Given the description of an element on the screen output the (x, y) to click on. 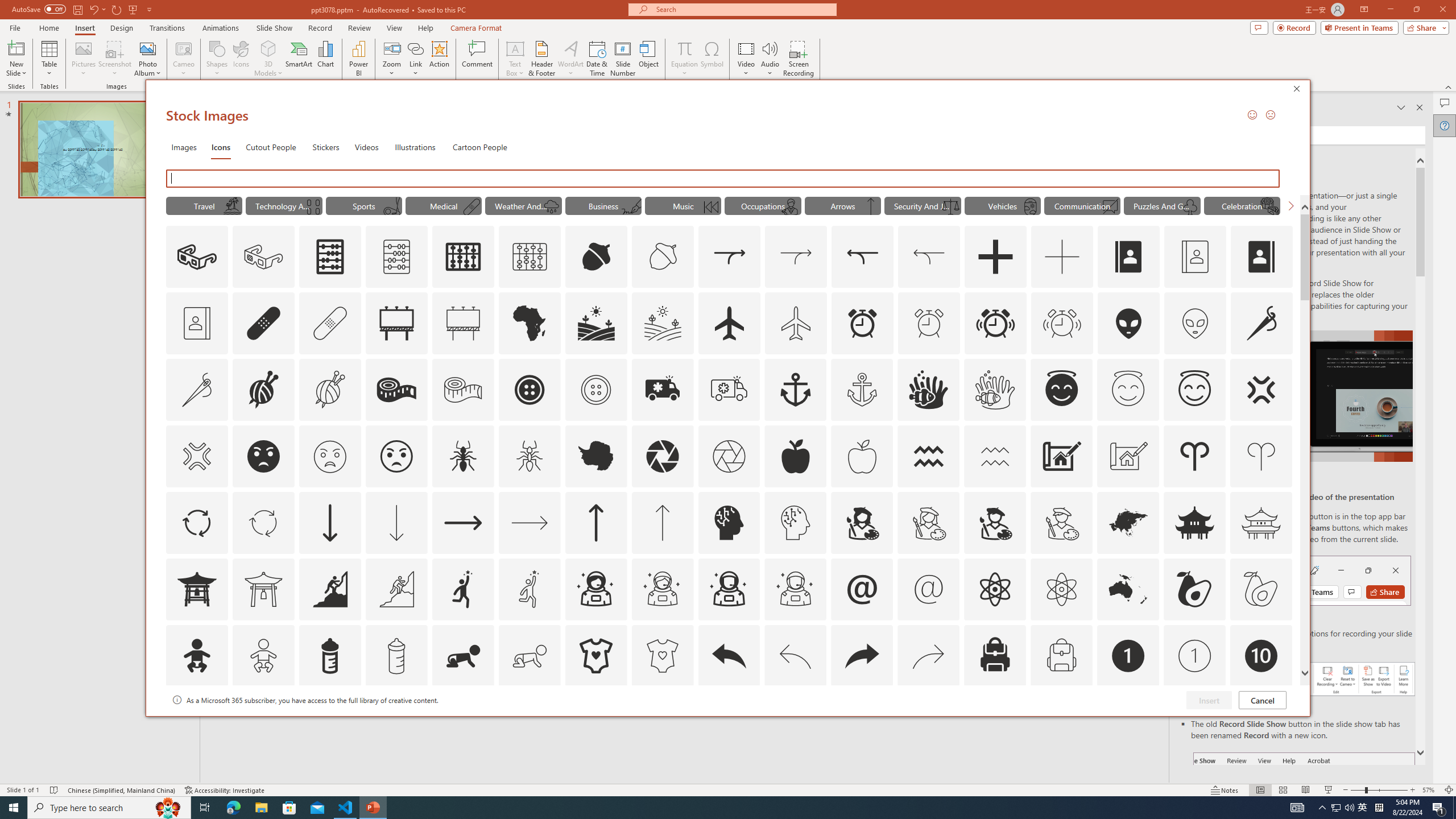
AutomationID: Icons_AlterationsTailoring3 (529, 389)
AutomationID: Icons_Africa (529, 323)
AutomationID: Icons_AsianTemple1_M (263, 588)
AutomationID: Icons_Badge4 (529, 721)
